Given the description of an element on the screen output the (x, y) to click on. 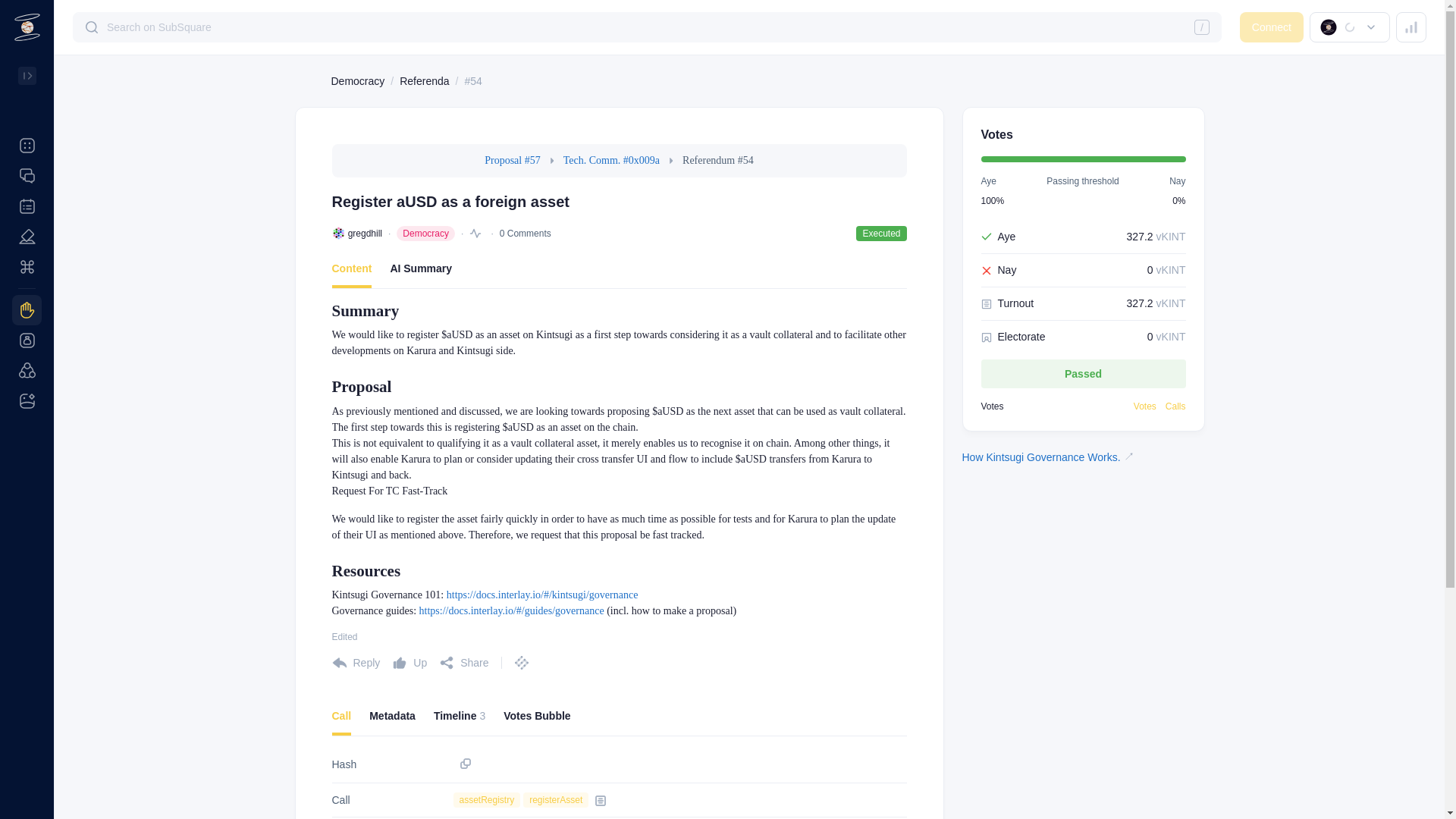
gregdhill (364, 233)
Connect (1271, 27)
Votes (1145, 406)
Referenda (423, 80)
Calls (619, 720)
